Given the description of an element on the screen output the (x, y) to click on. 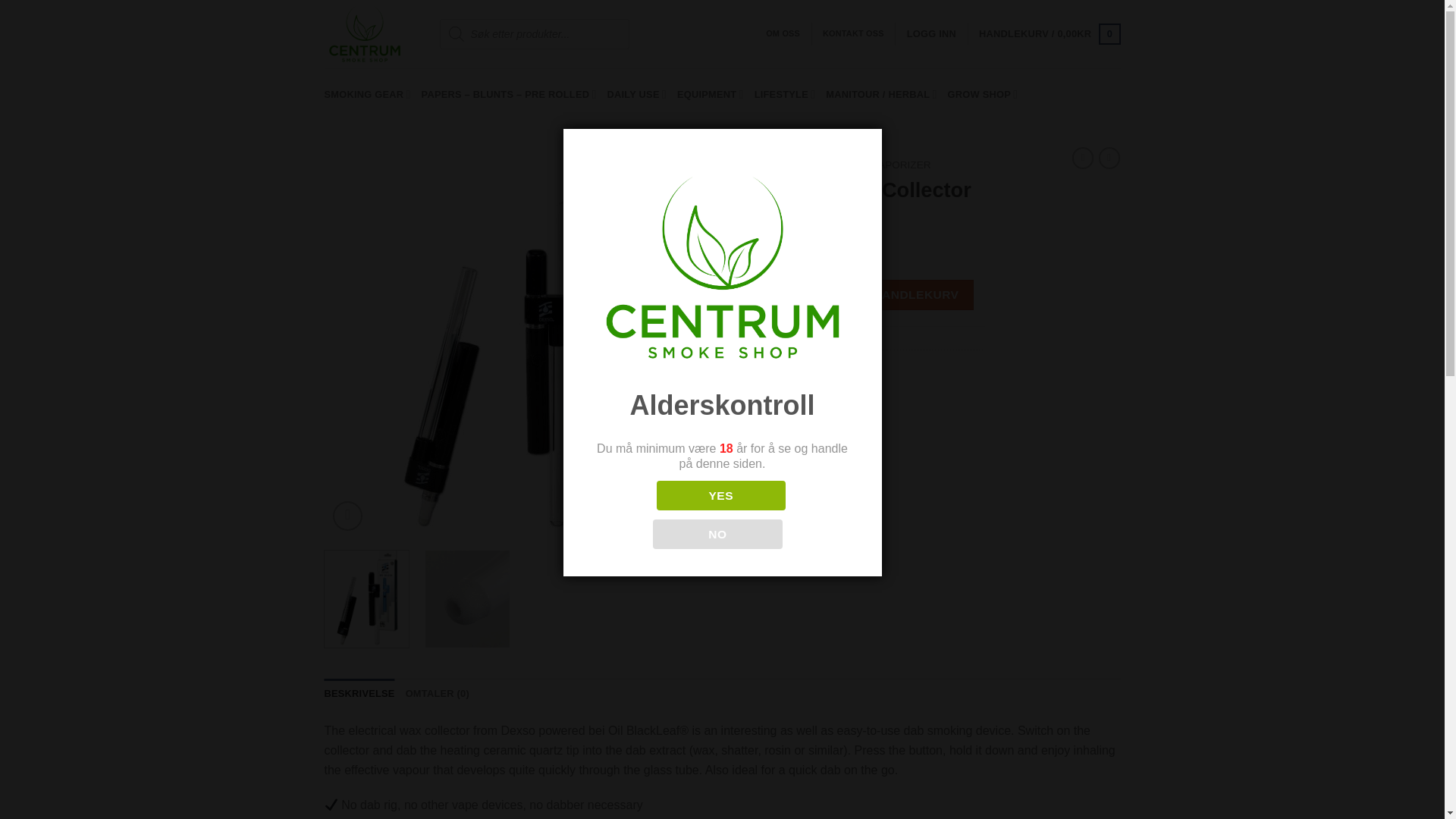
OM OSS (782, 33)
Share on LinkedIn (856, 396)
Share on Facebook (747, 396)
Handlekurv (1048, 34)
Email to a Friend (801, 396)
KONTAKT OSS (852, 33)
LIFESTYLE (784, 94)
Zoom (347, 515)
Share on Twitter (774, 396)
SMOKING GEAR (367, 94)
Centrum Smoke Shop - Smoke Shop (370, 33)
DAILY USE (636, 94)
LOGG INN (931, 33)
EQUIPMENT (710, 94)
Pin on Pinterest (828, 396)
